Given the description of an element on the screen output the (x, y) to click on. 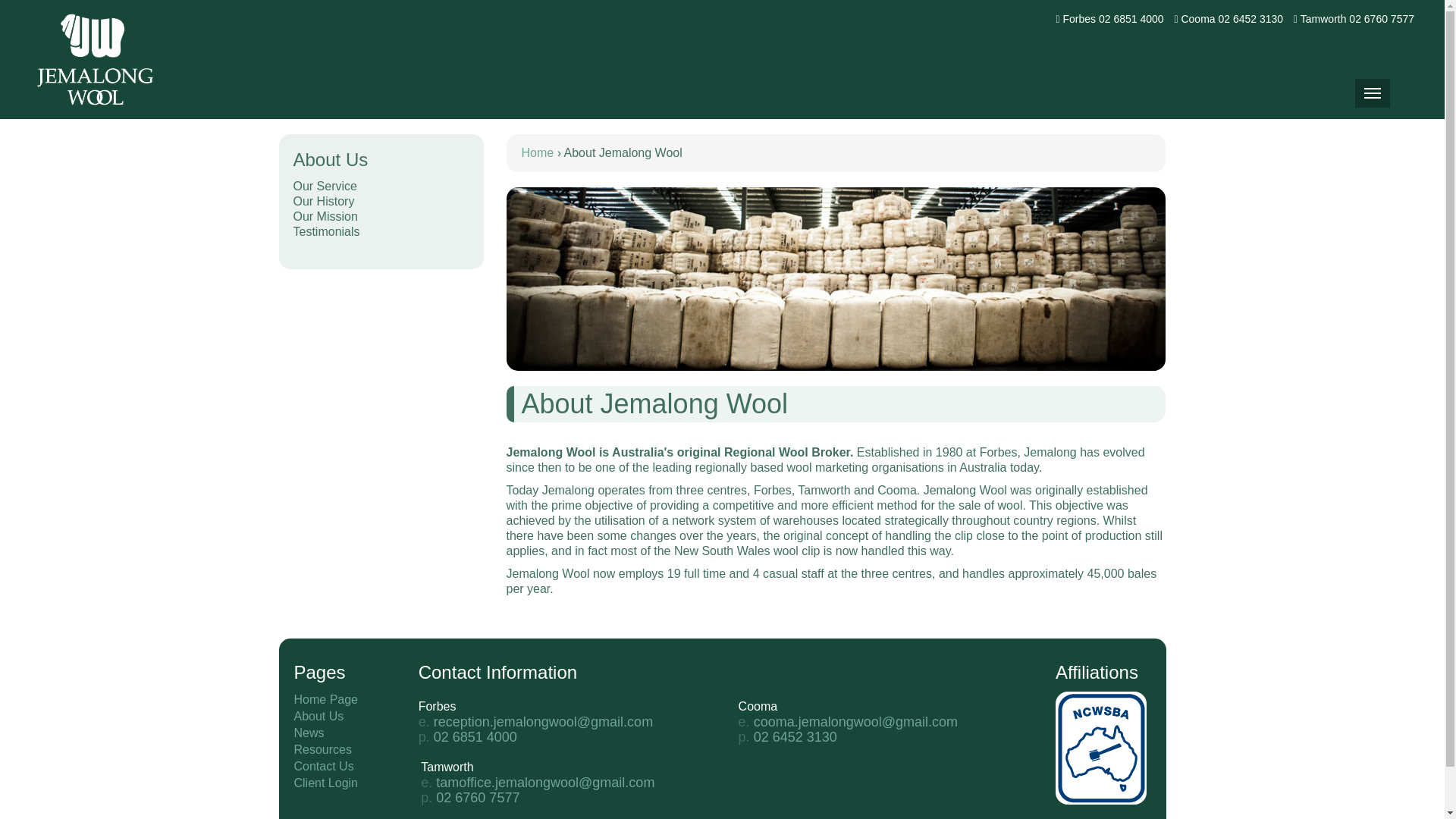
Home Page Element type: text (326, 699)
Our History Element type: text (380, 201)
Navigation Element type: hover (1372, 92)
Contact Us Element type: text (324, 765)
View the NCWSBA Website Element type: hover (1100, 746)
Client Login Element type: text (326, 782)
Our Service Element type: text (380, 186)
Resources Element type: text (322, 749)
Our Mission Element type: text (380, 216)
reception.jemalongwool@gmail.com Element type: text (542, 721)
cooma.jemalongwool@gmail.com Element type: text (855, 721)
Skip to main content Element type: text (0, 0)
tamoffice.jemalongwool@gmail.com Element type: text (545, 782)
Testimonials Element type: text (380, 231)
About Us Element type: text (319, 715)
News Element type: text (309, 732)
Home Element type: hover (93, 59)
Home Element type: text (537, 152)
